Given the description of an element on the screen output the (x, y) to click on. 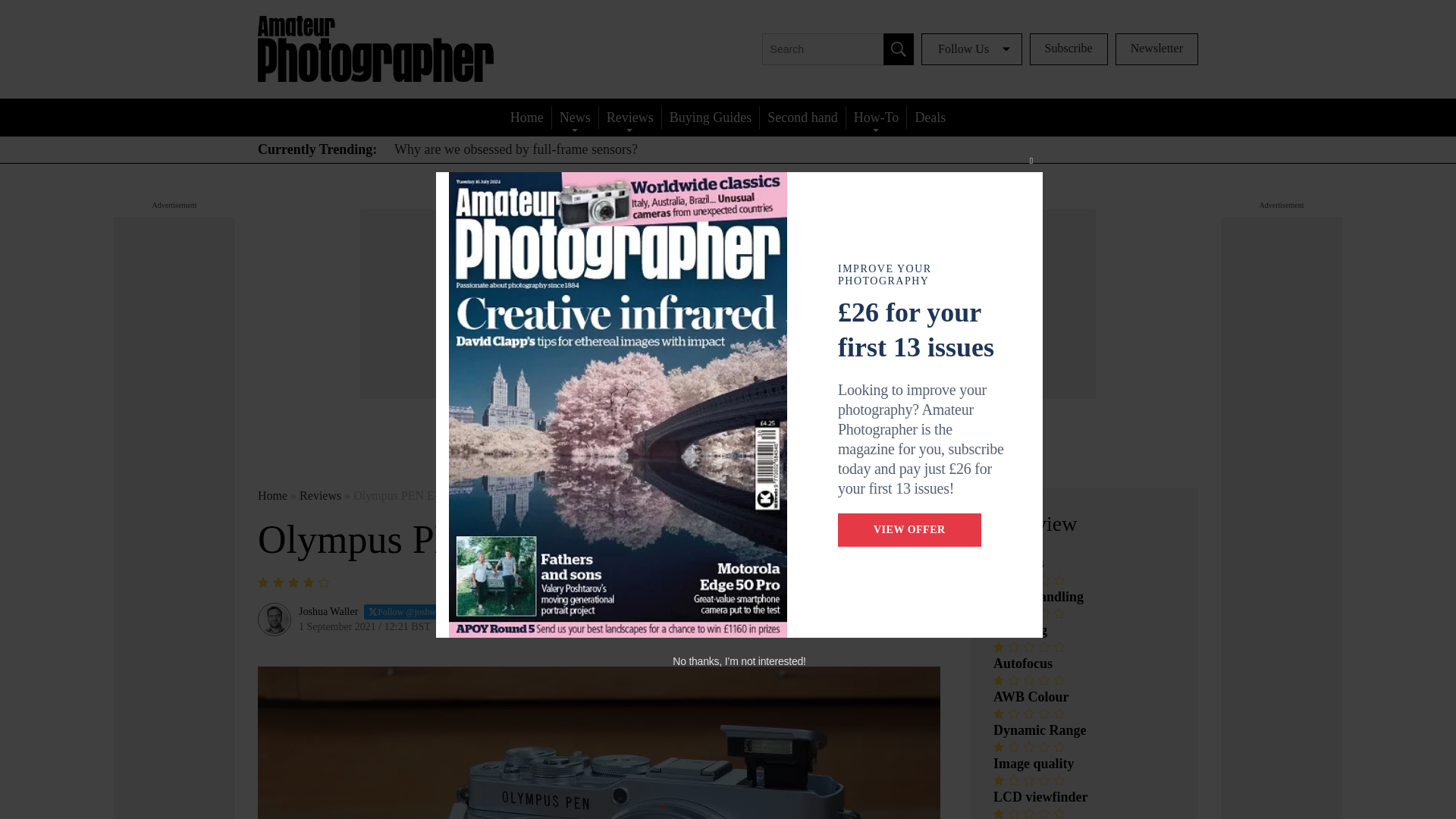
Subscribe (1068, 49)
Newsletter (1156, 49)
Buying Guides (711, 117)
News (574, 117)
Follow Us (971, 49)
Home (526, 117)
Search (898, 49)
Second hand (802, 117)
Reviews (629, 117)
How-To (876, 117)
